Given the description of an element on the screen output the (x, y) to click on. 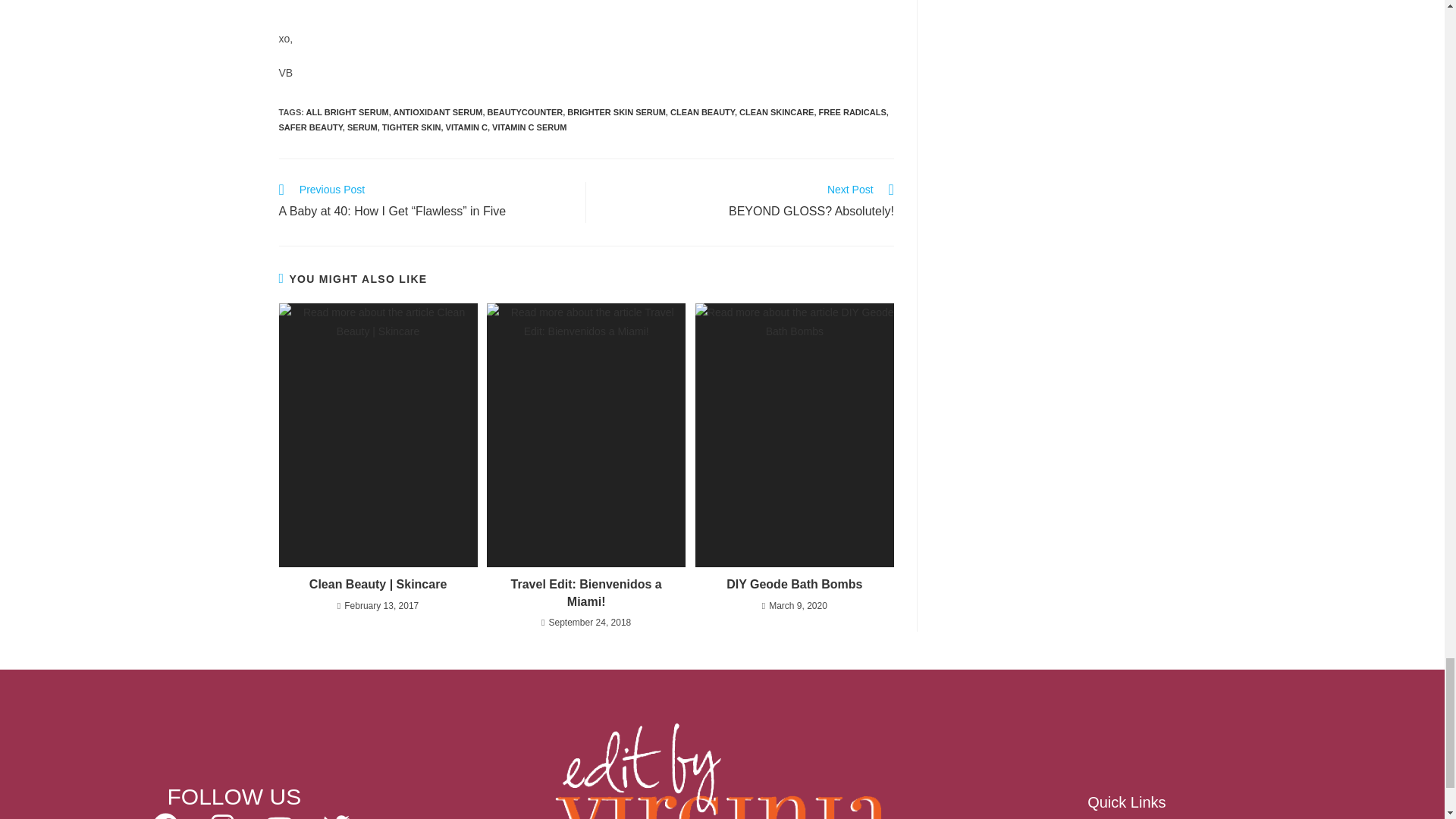
SERUM (747, 201)
CLEAN SKINCARE (362, 126)
ANTIOXIDANT SERUM (776, 112)
SAFER BEAUTY (437, 112)
BRIGHTER SKIN SERUM (310, 126)
BEAUTYCOUNTER (616, 112)
CLEAN BEAUTY (525, 112)
ALL BRIGHT SERUM (702, 112)
VITAMIN C SERUM (346, 112)
